Given the description of an element on the screen output the (x, y) to click on. 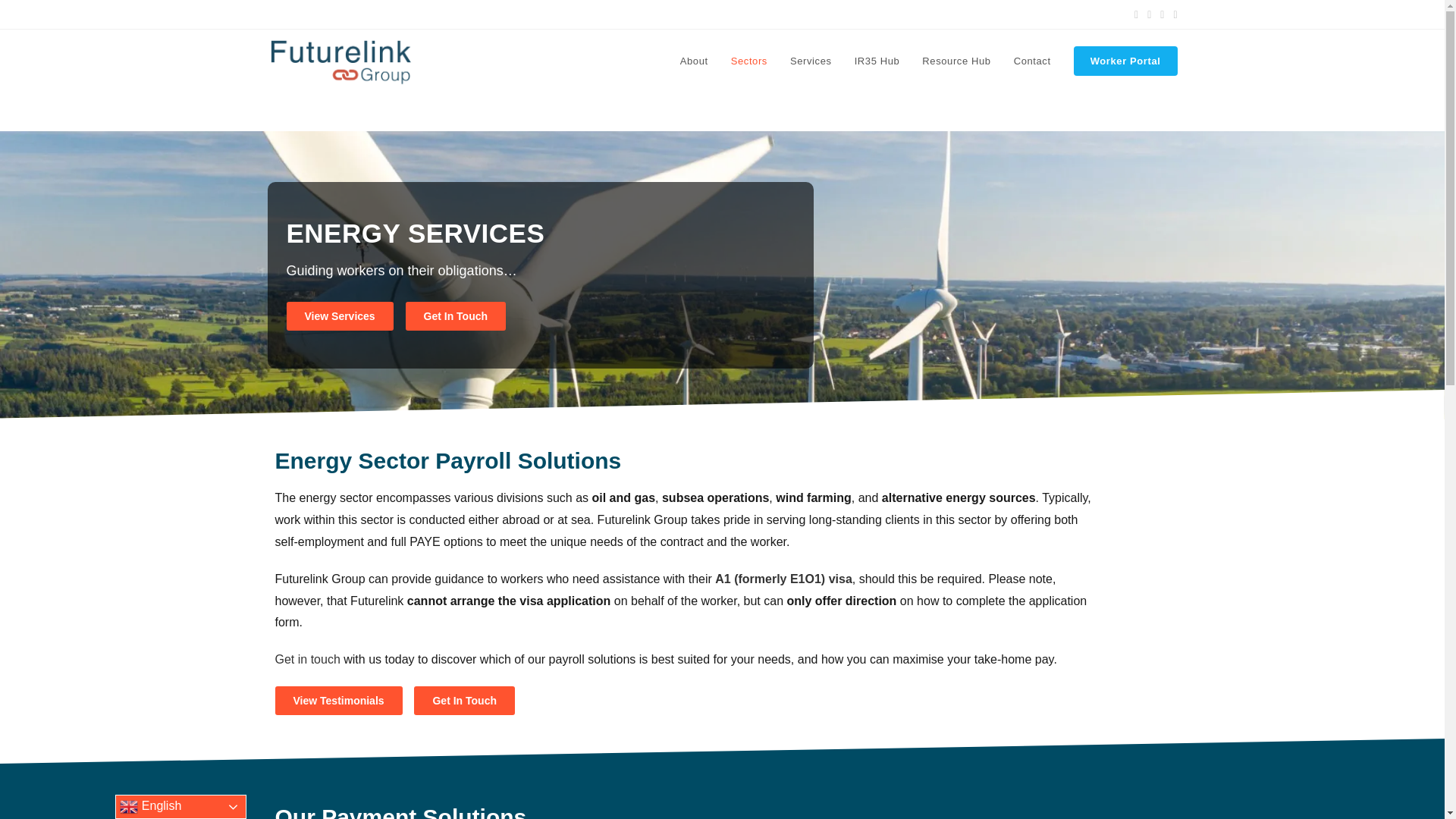
Sectors (748, 61)
Services (810, 61)
Worker Portal (1125, 61)
IR35 Hub (877, 61)
Contact (1032, 61)
About (693, 61)
Resource Hub (956, 61)
